Given the description of an element on the screen output the (x, y) to click on. 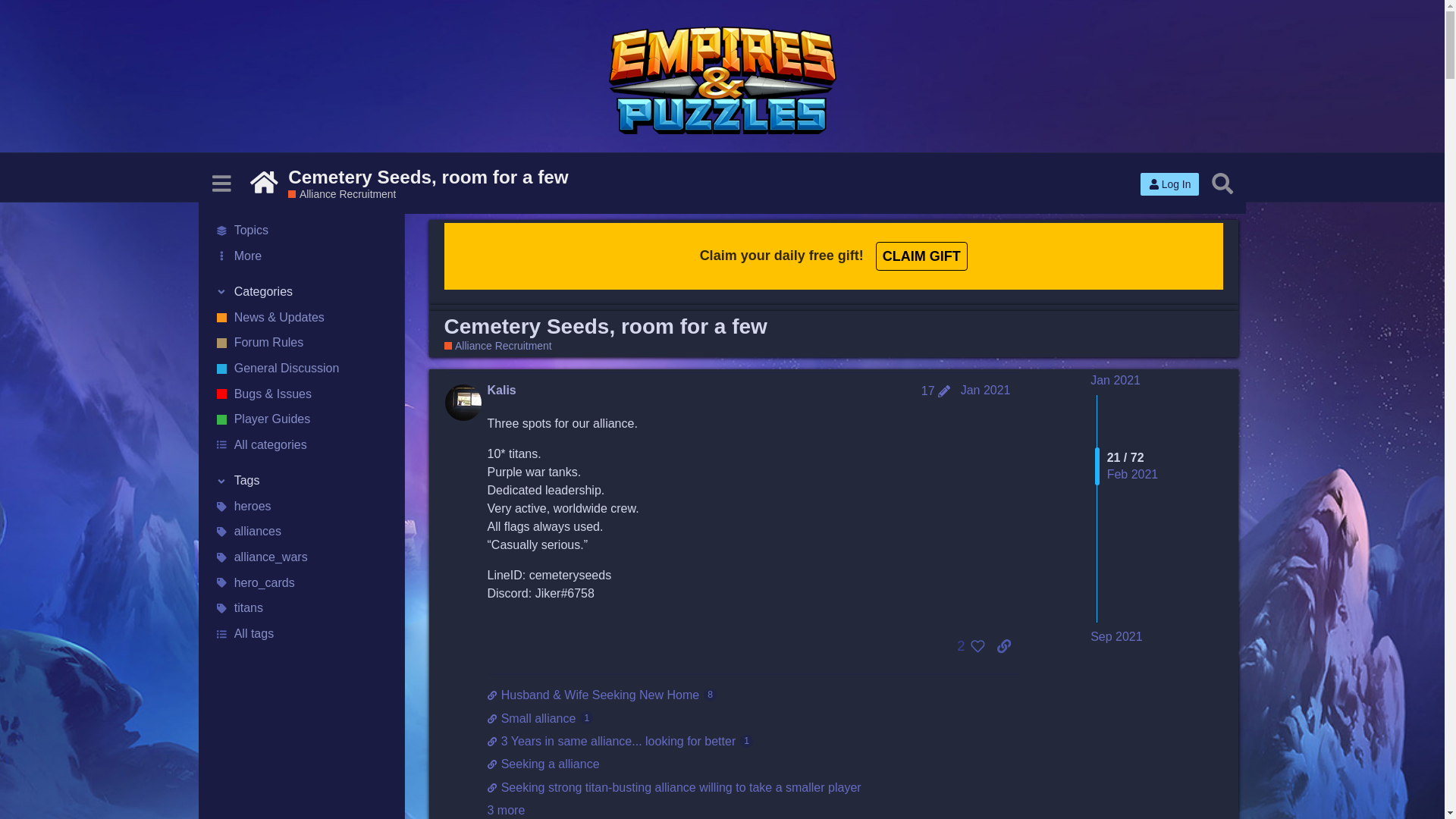
Jan 2021 (985, 390)
General Discussion (301, 368)
Kalis (500, 390)
All topics (301, 230)
Search (1222, 182)
More (301, 256)
Cemetery Seeds, room for a few (427, 177)
alliances (301, 532)
Toggle section (301, 481)
All categories (751, 718)
Sep 2021 (301, 444)
Categories (1116, 636)
Log In (301, 292)
CLAIM GIFT (1169, 183)
